Given the description of an element on the screen output the (x, y) to click on. 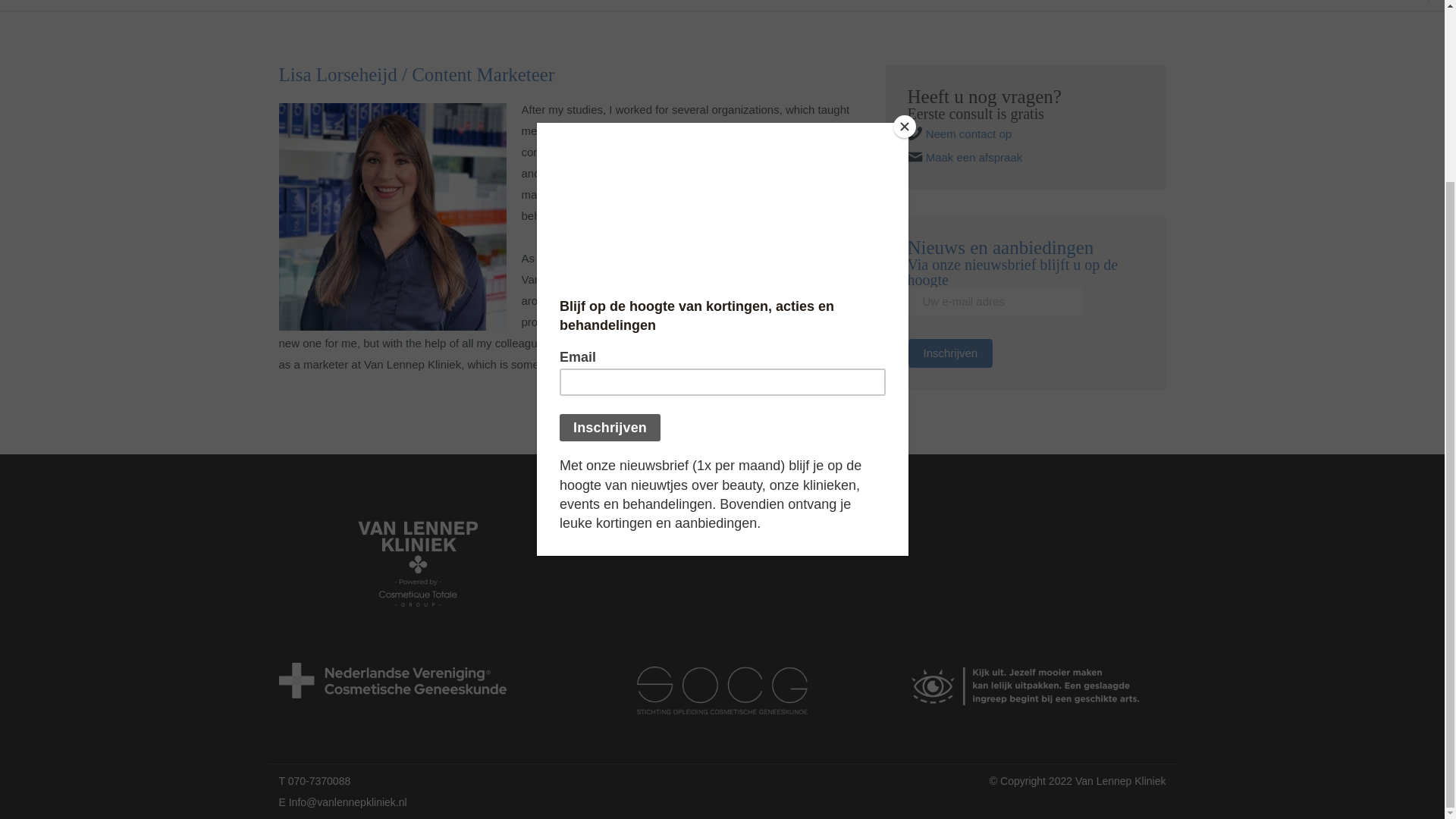
Search (890, 185)
Inschrijven (949, 352)
